Given the description of an element on the screen output the (x, y) to click on. 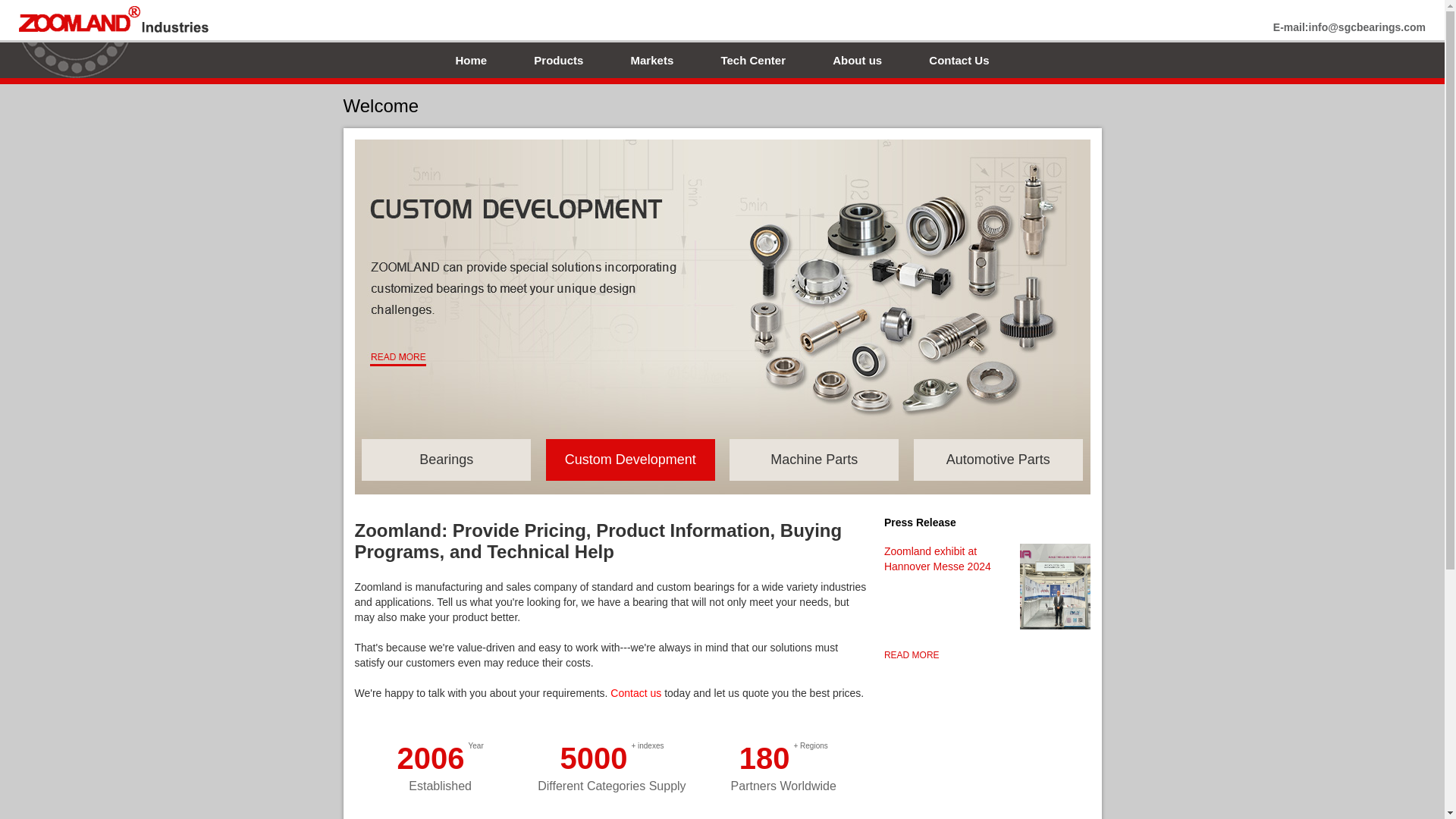
About us (857, 59)
Products (558, 59)
Home (470, 59)
Markets (651, 59)
Tech Center (753, 59)
